Given the description of an element on the screen output the (x, y) to click on. 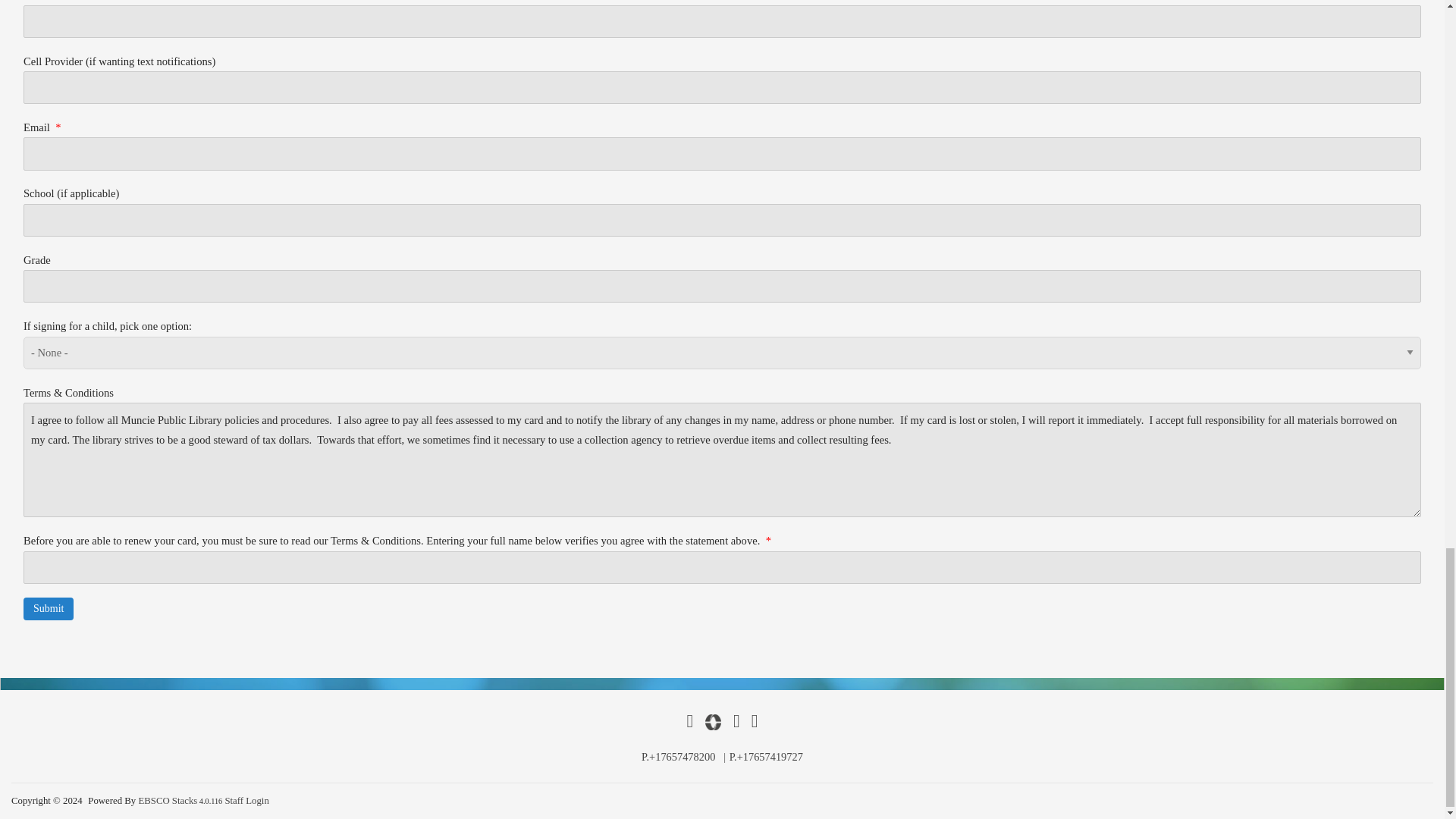
Submit (48, 608)
access paylocity.com (713, 722)
